Given the description of an element on the screen output the (x, y) to click on. 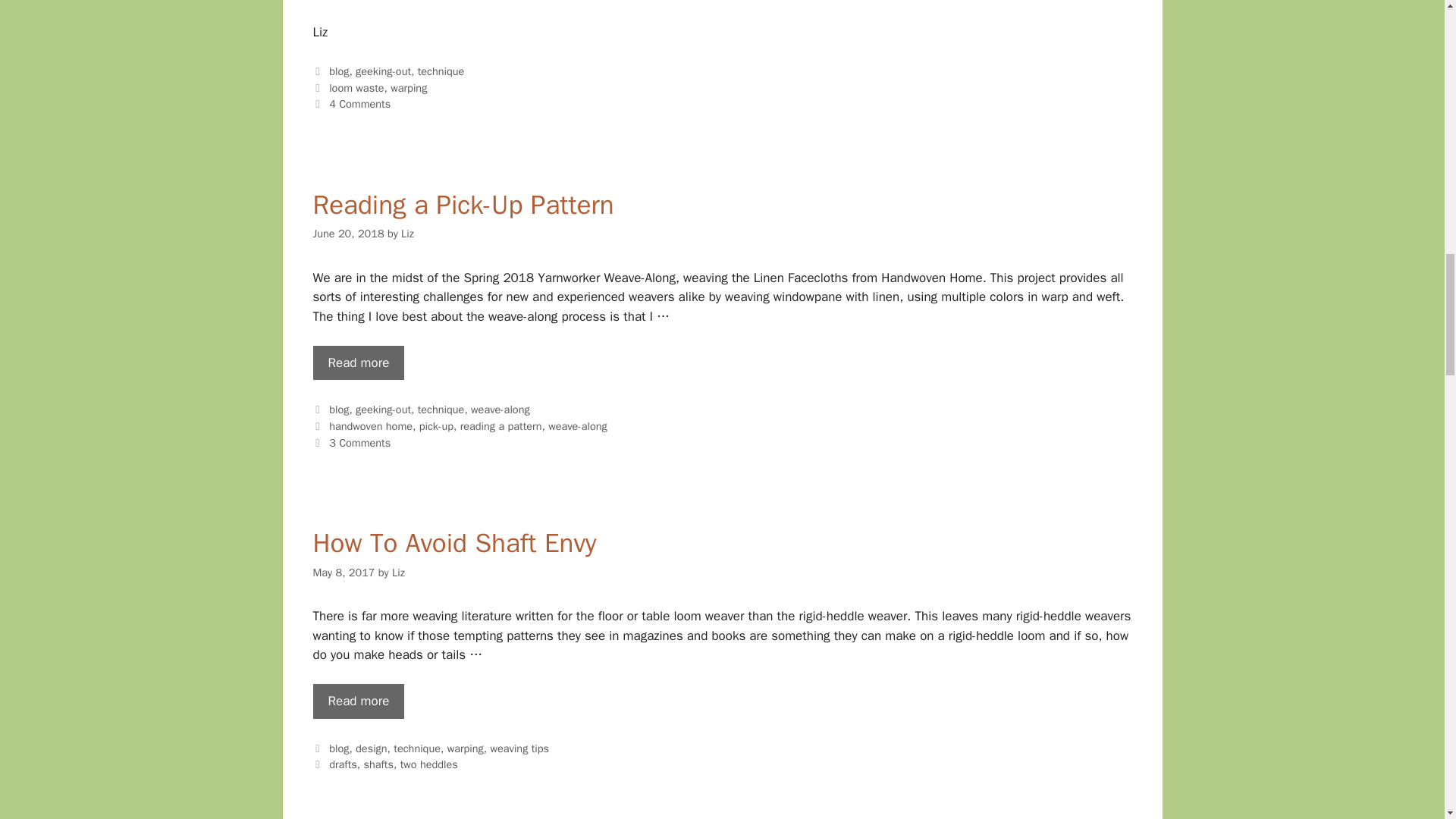
How To Avoid Shaft Envy (358, 701)
View all posts by Liz (407, 233)
View all posts by Liz (397, 572)
Reading a Pick-Up Pattern (358, 362)
